Given the description of an element on the screen output the (x, y) to click on. 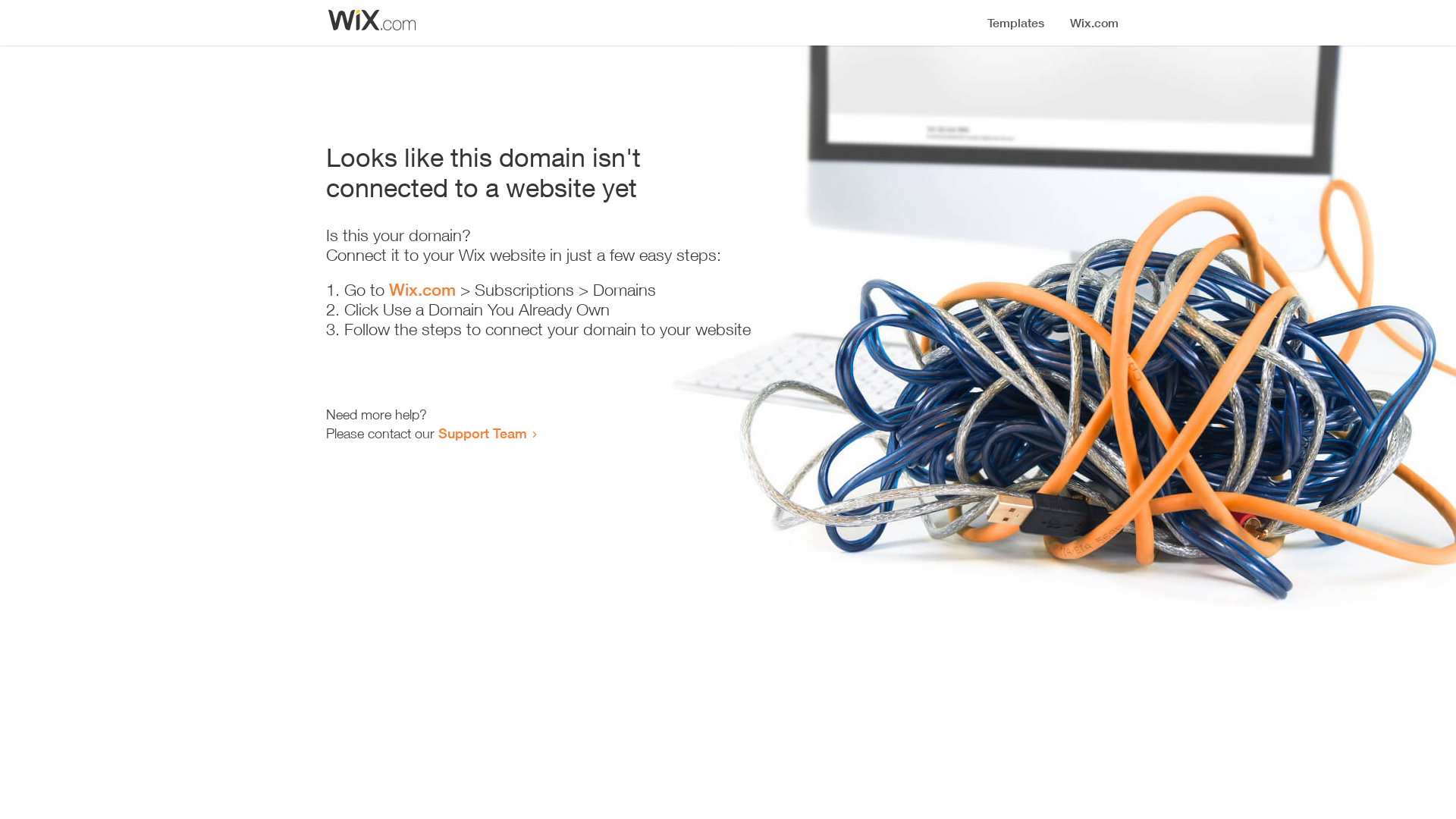
Wix.com Element type: text (422, 289)
Support Team Element type: text (482, 432)
